Given the description of an element on the screen output the (x, y) to click on. 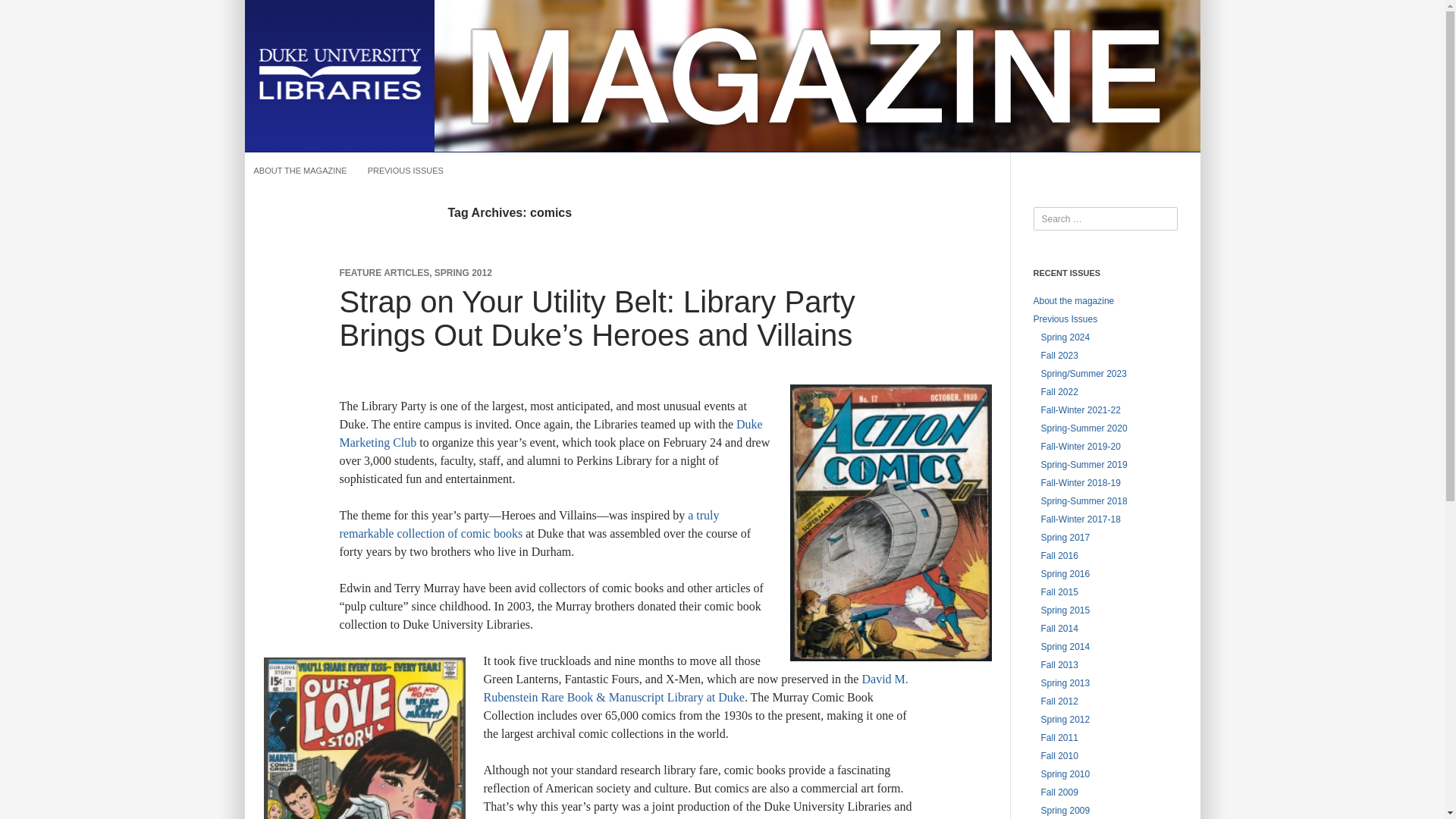
Fall 2014 (1059, 628)
About the magazine (1072, 300)
Fall-Winter 2017-18 (1080, 519)
Spring 2014 (1065, 646)
ABOUT THE MAGAZINE (299, 170)
Fall 2023 (1059, 355)
Fall 2016 (1059, 555)
Spring 2015 (1065, 610)
Duke Marketing Club (550, 432)
Fall 2022 (1059, 391)
